Given the description of an element on the screen output the (x, y) to click on. 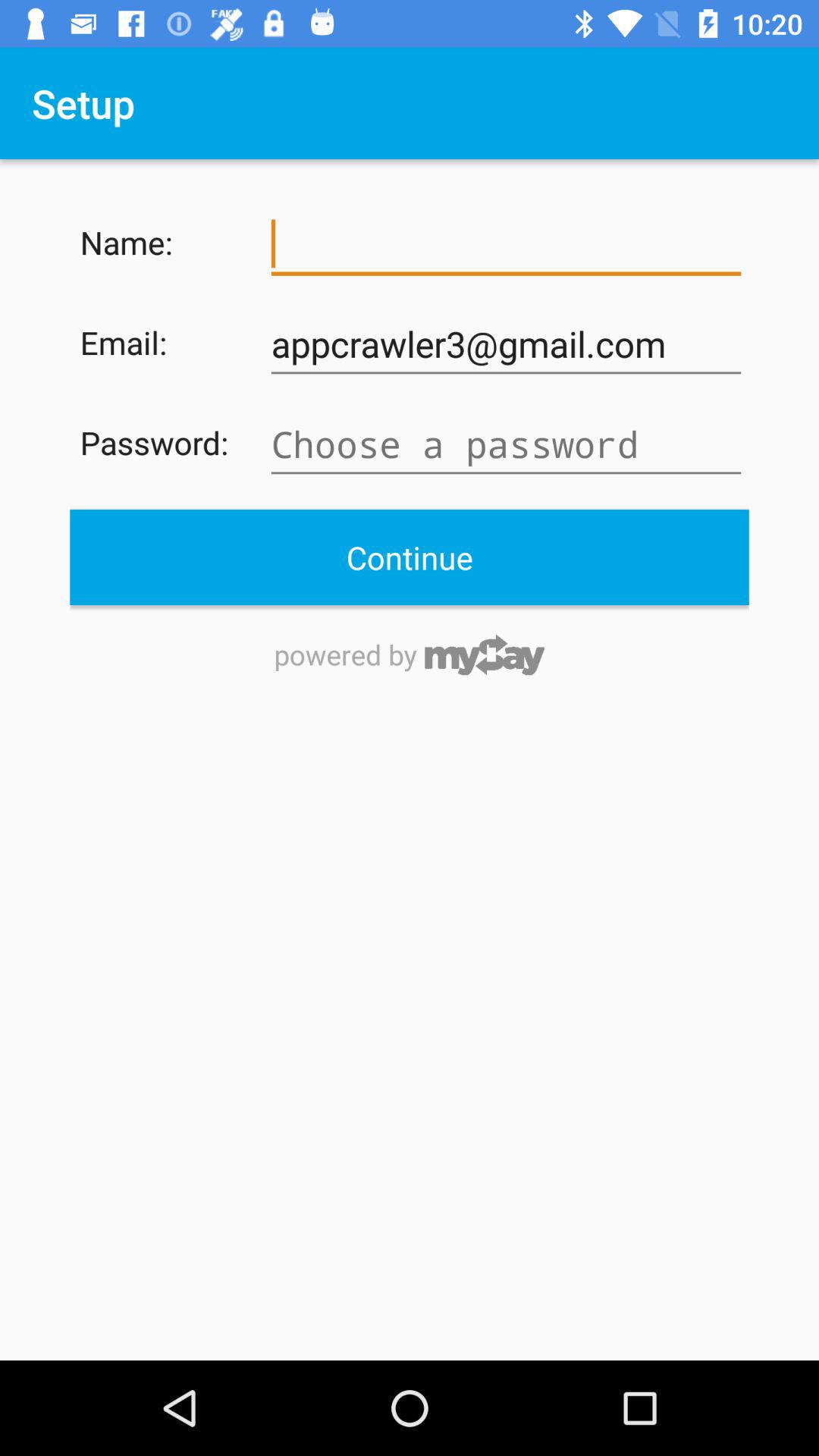
insert password (506, 444)
